Given the description of an element on the screen output the (x, y) to click on. 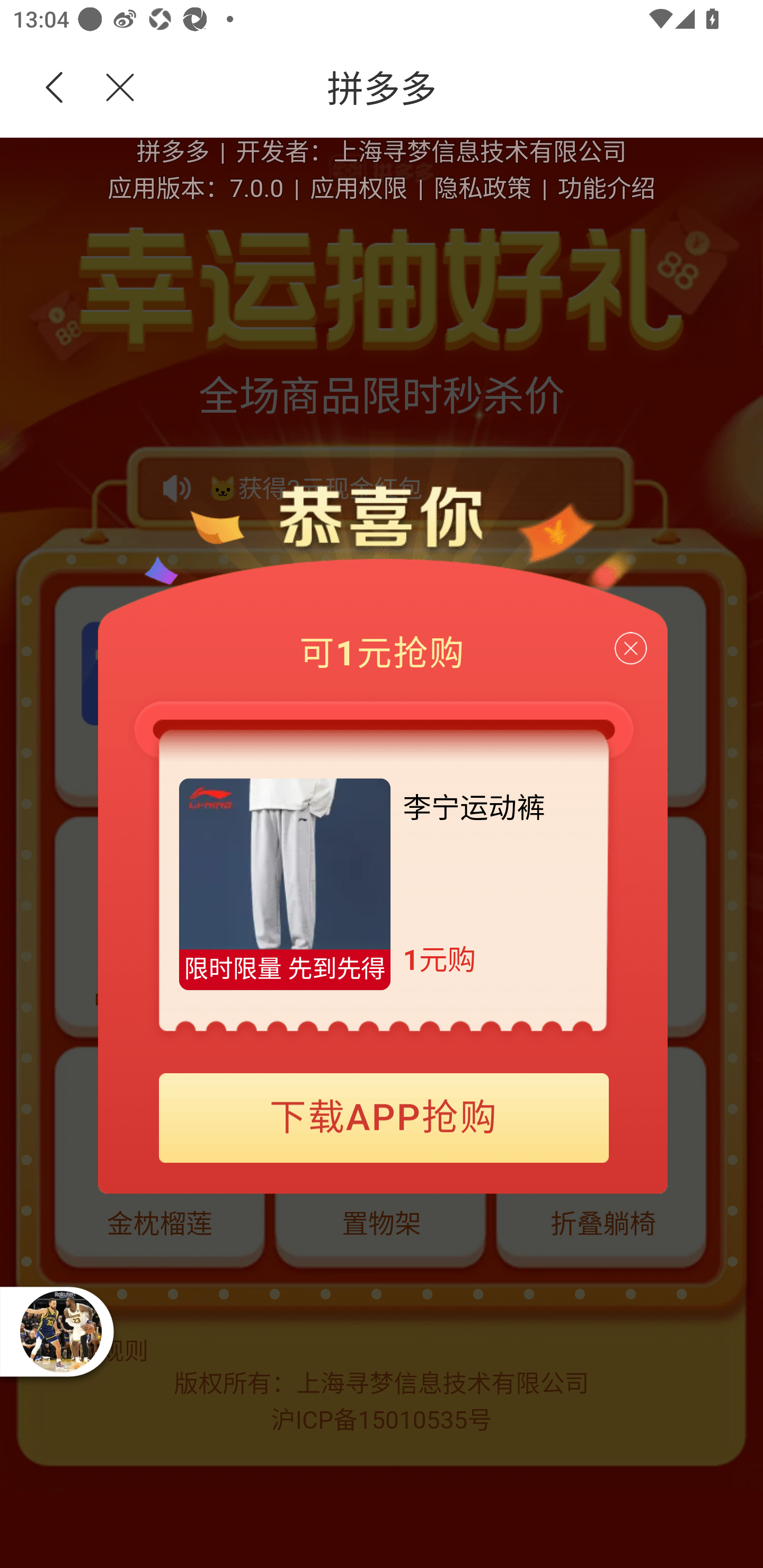
 (109, 87)
拼多多 (451, 87)
 返回 (54, 87)
播放器 (60, 1331)
